Given the description of an element on the screen output the (x, y) to click on. 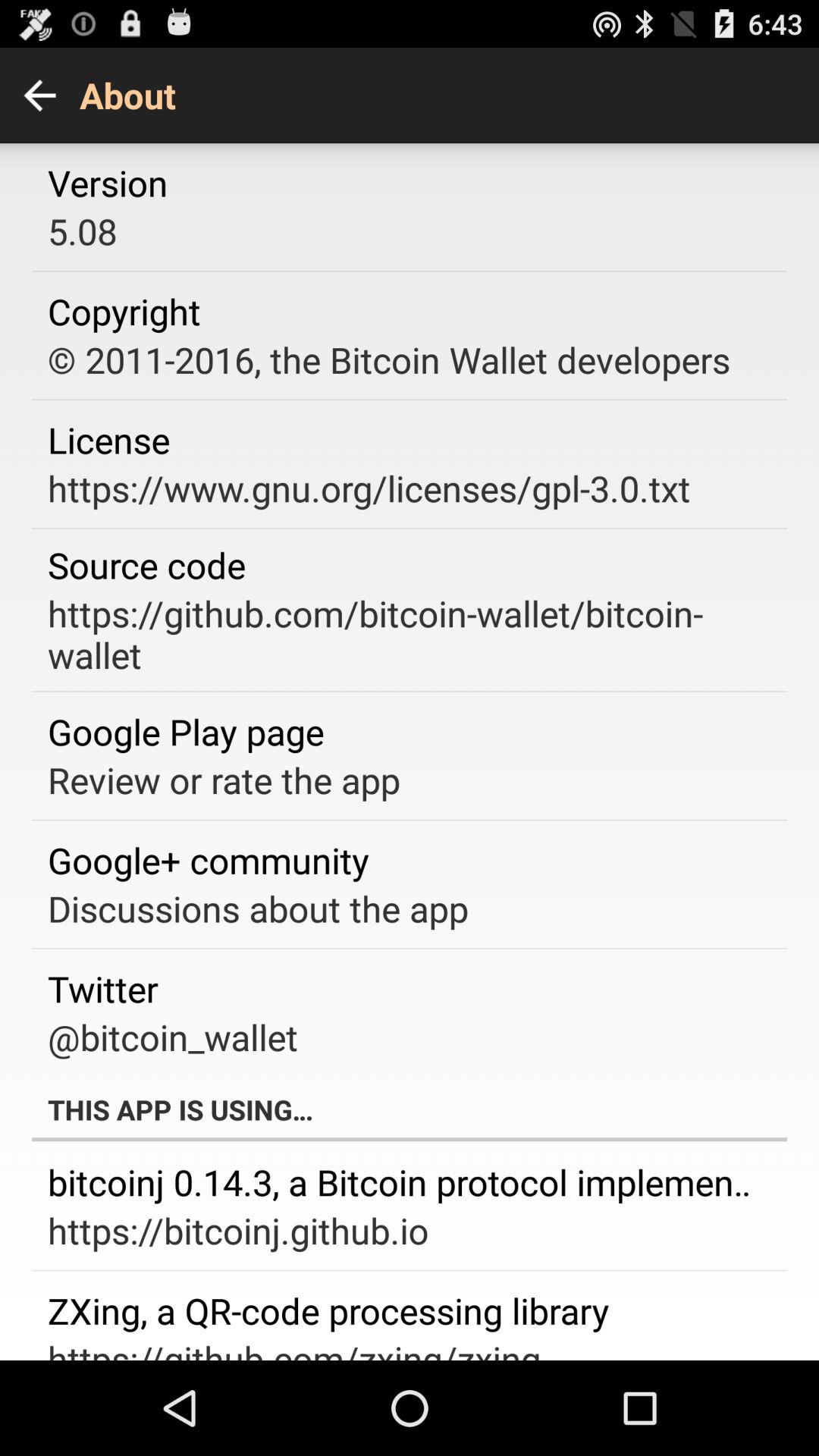
press the icon below version (82, 231)
